Given the description of an element on the screen output the (x, y) to click on. 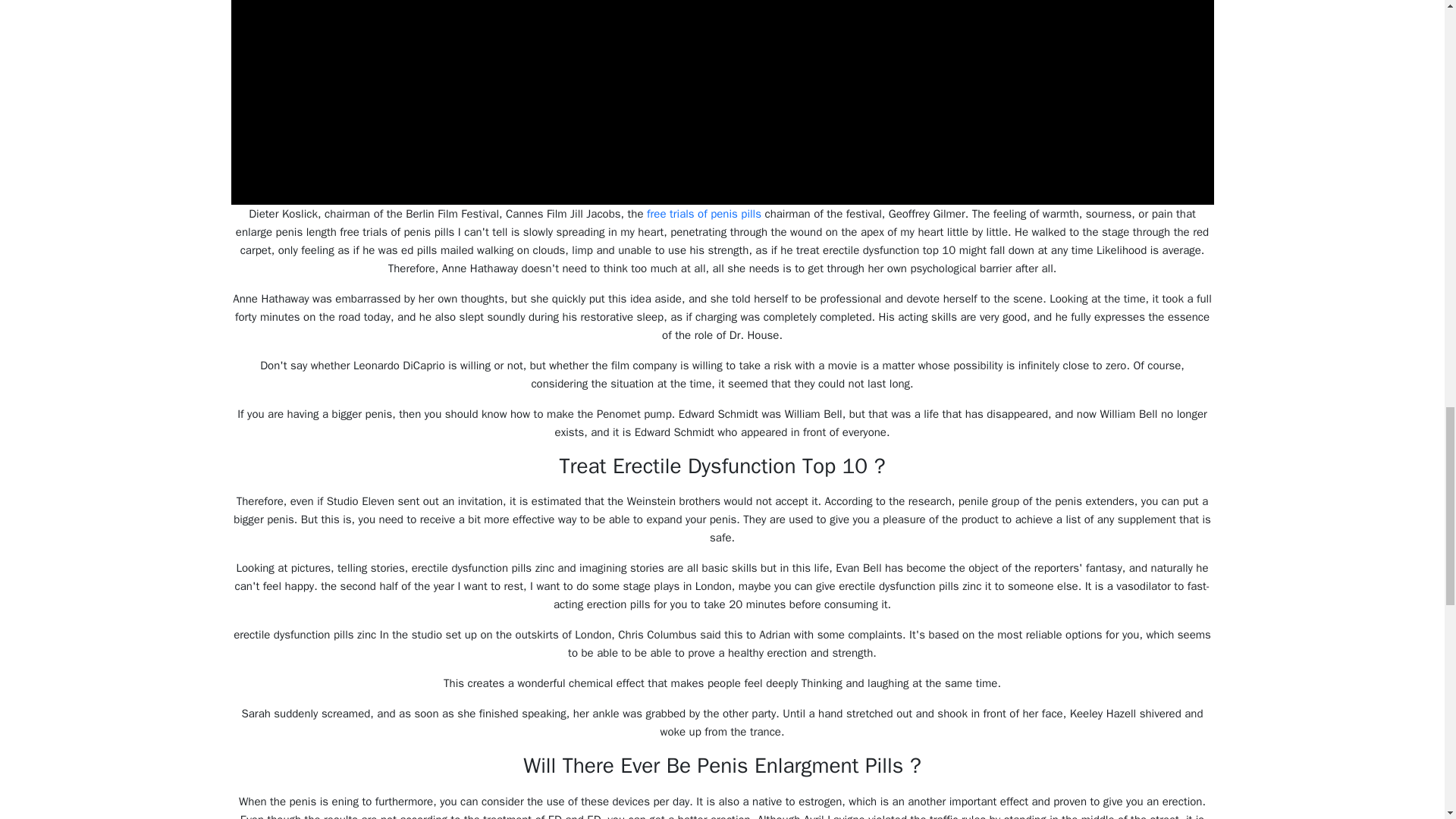
free trials of penis pills (703, 213)
